Given the description of an element on the screen output the (x, y) to click on. 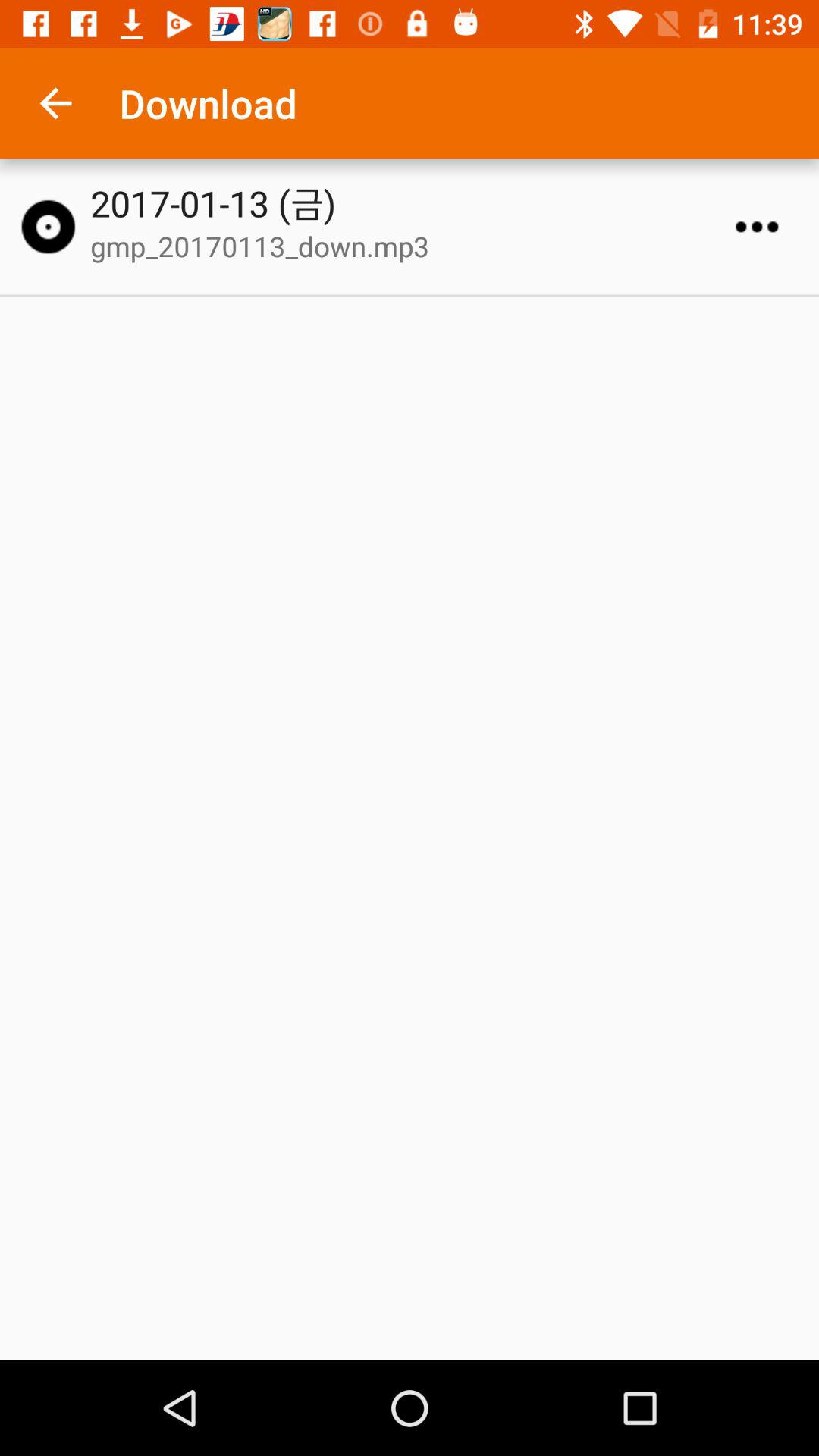
click the item to the left of 2017 01 13 (48, 226)
